Given the description of an element on the screen output the (x, y) to click on. 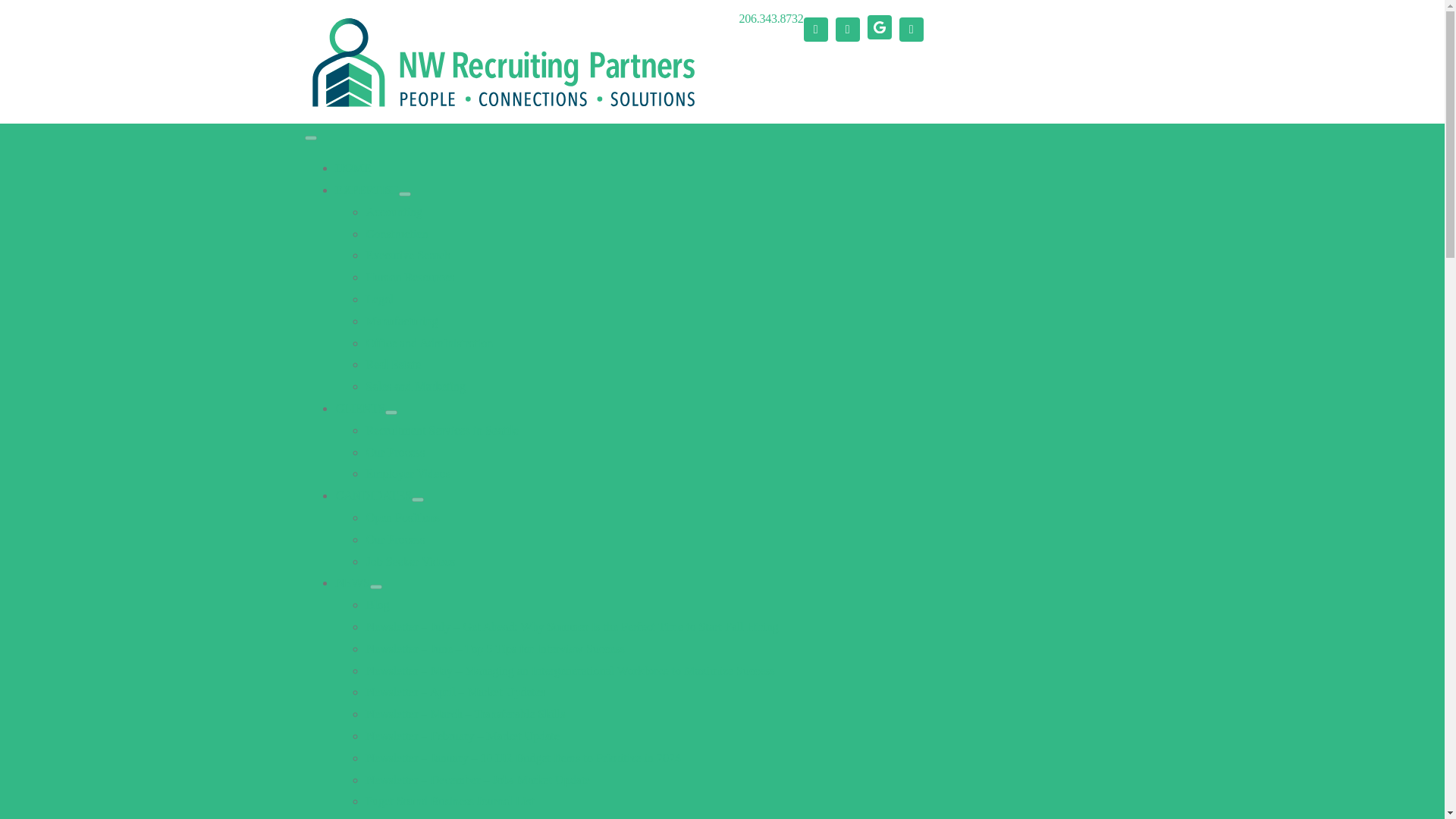
Facebook (815, 29)
LinkedIn (847, 29)
Google (879, 27)
Instagram (911, 29)
